Given the description of an element on the screen output the (x, y) to click on. 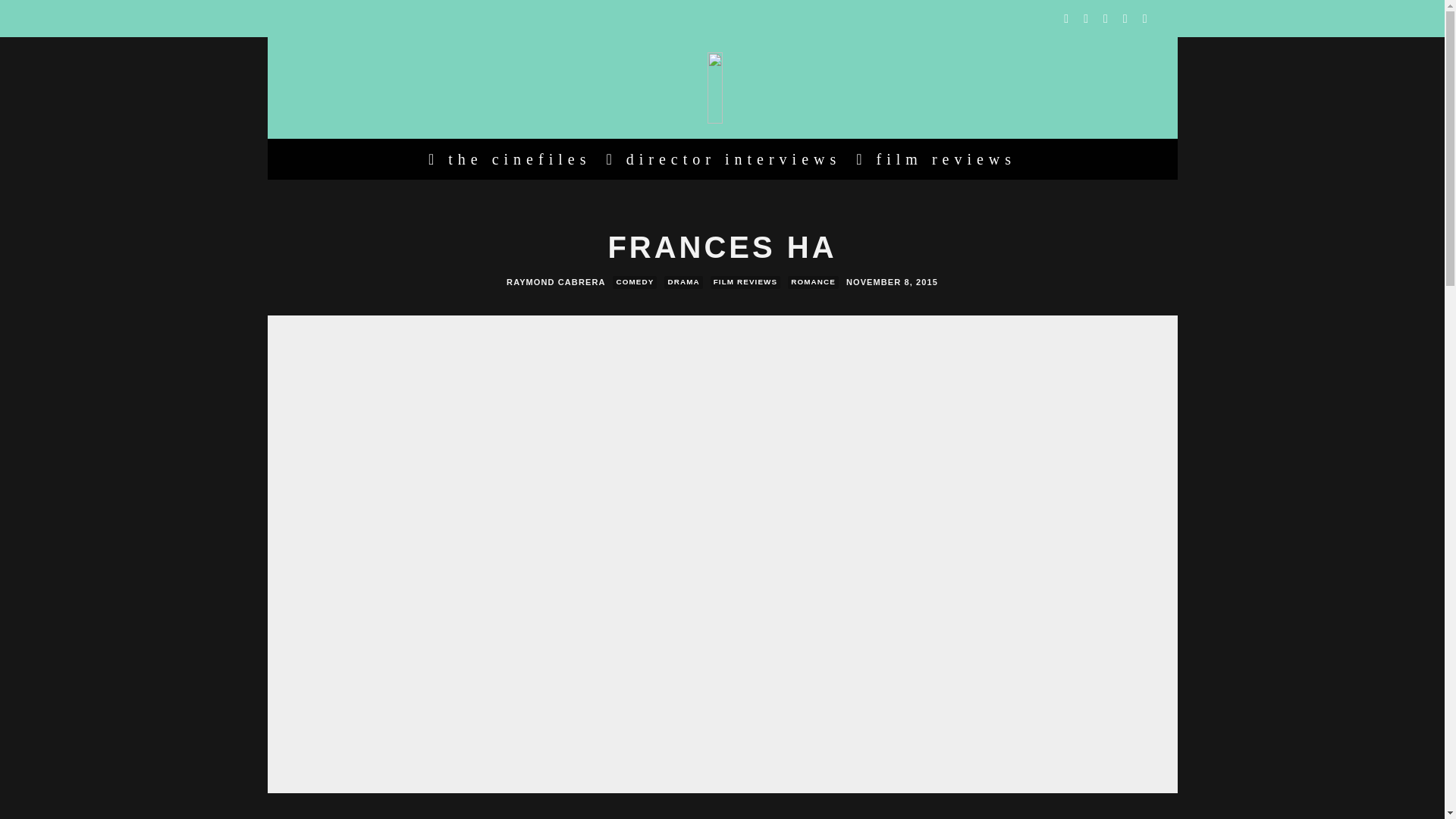
  Spoiler-Free Movie Reviews (935, 158)
 The CineFiles (509, 158)
Director Interviews (723, 158)
film reviews (935, 158)
director interviews (723, 158)
the cinefiles (509, 158)
